Given the description of an element on the screen output the (x, y) to click on. 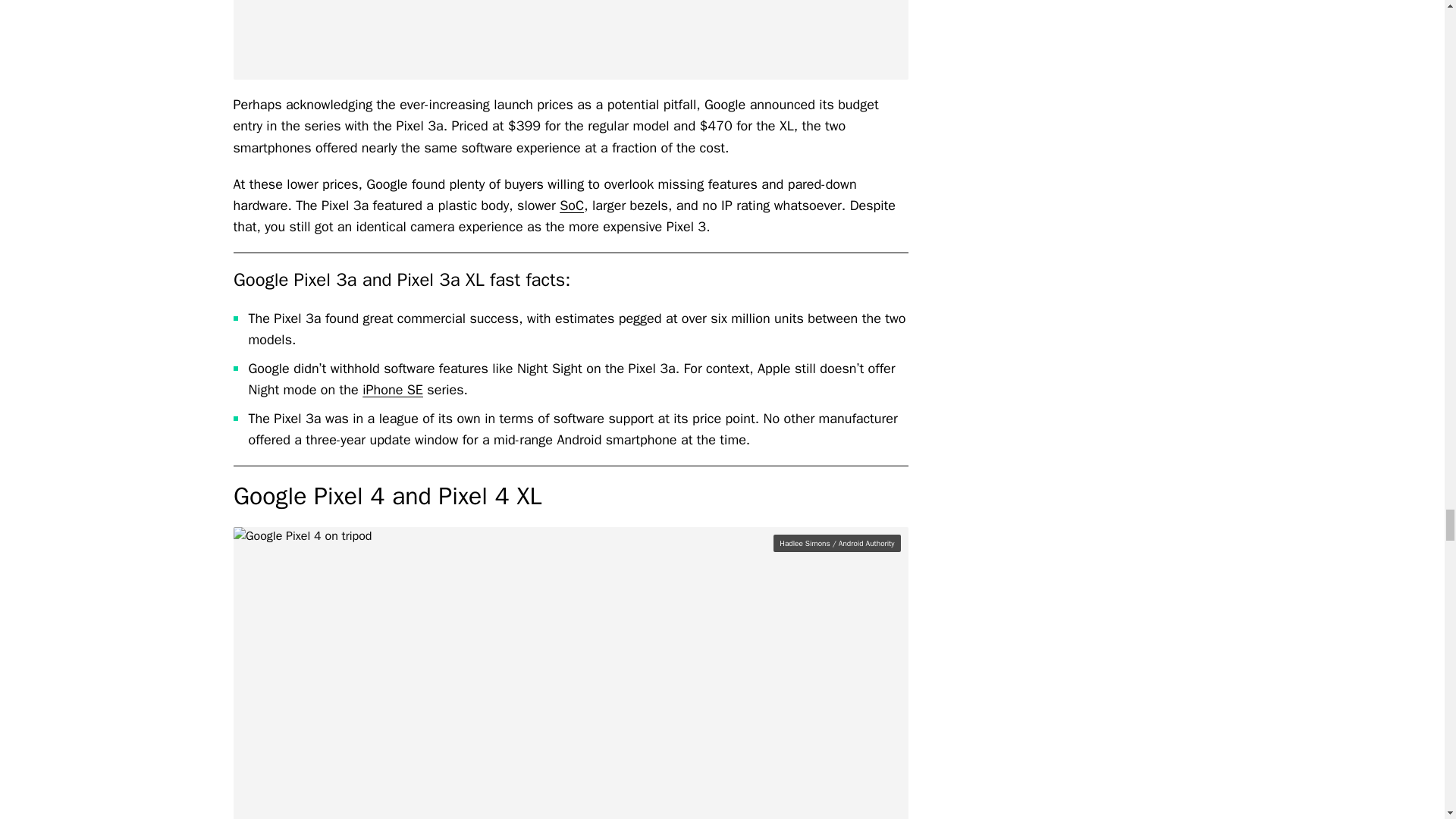
Pixel 3a screen standing on table (570, 39)
